Given the description of an element on the screen output the (x, y) to click on. 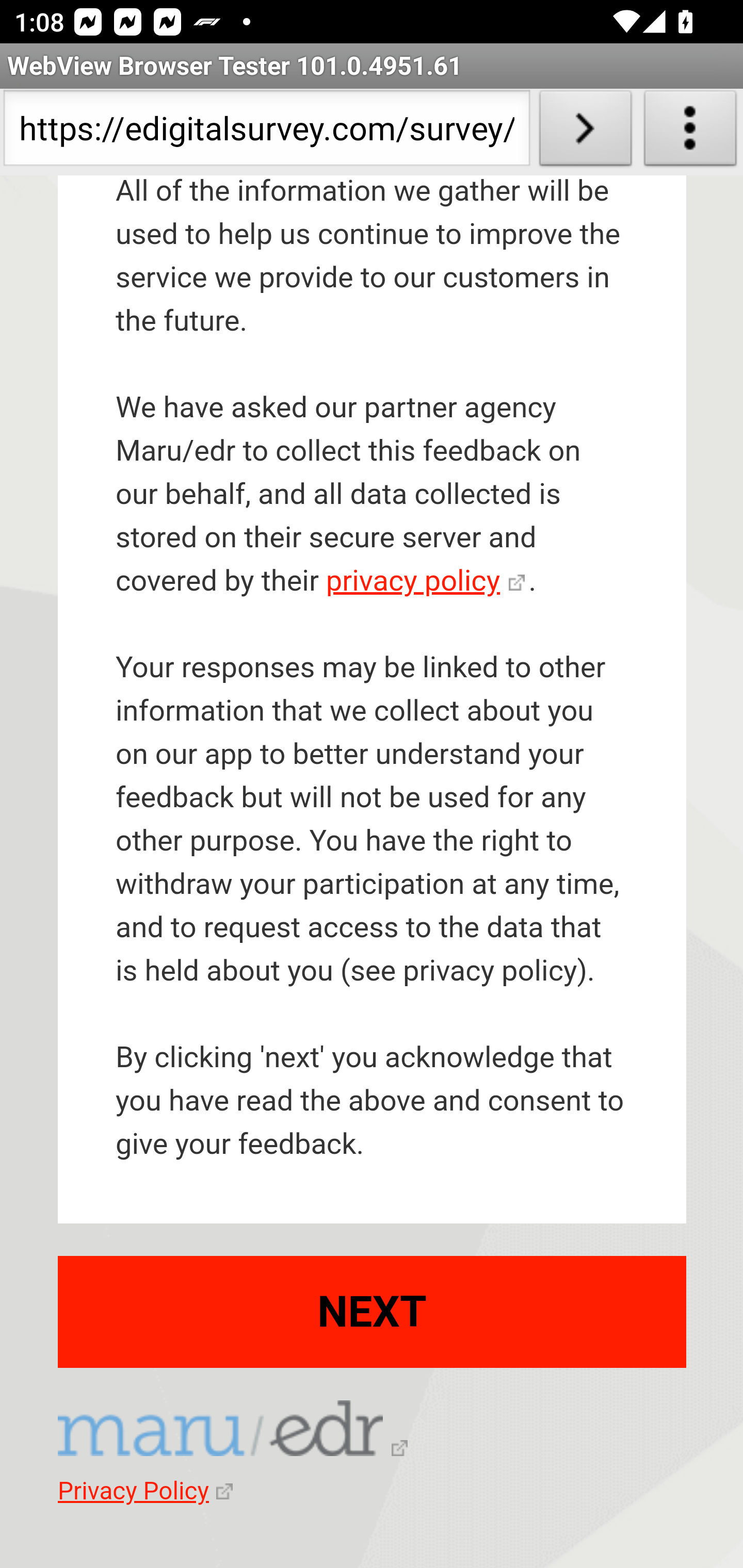
Load URL (585, 132)
About WebView (690, 132)
privacy policy  privacy policy    (425, 580)
NEXT (372, 1311)
Maru / edr  (233, 1431)
Privacy Policy  Privacy Policy    (144, 1491)
